Given the description of an element on the screen output the (x, y) to click on. 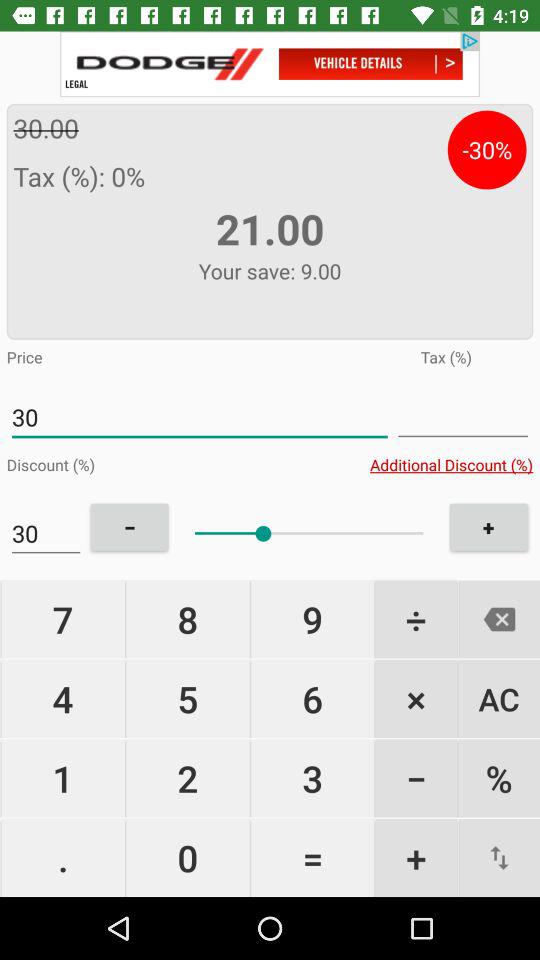
delete text (499, 619)
